Given the description of an element on the screen output the (x, y) to click on. 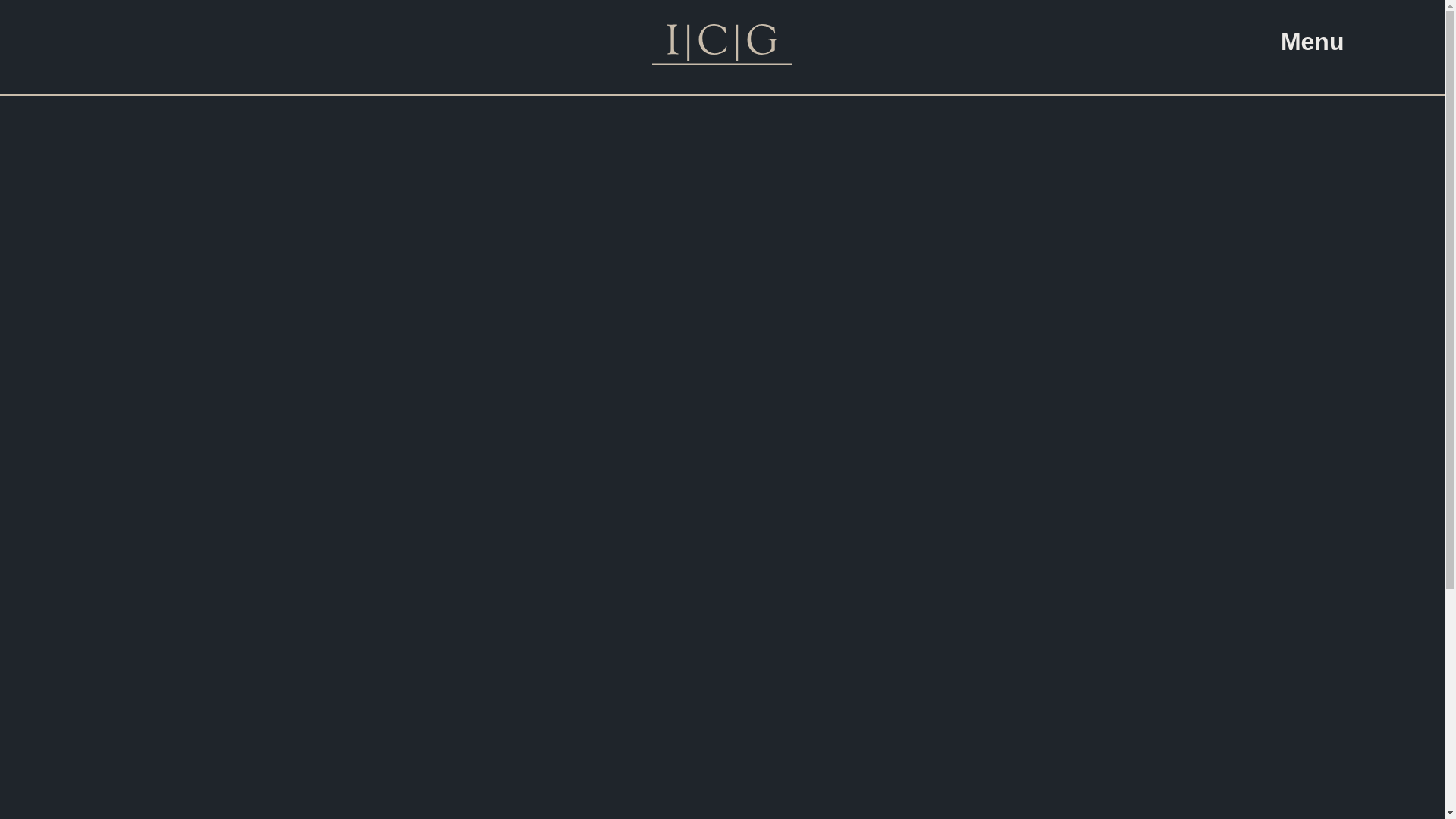
Close Element type: text (1313, 79)
Menu Element type: text (1312, 41)
